Given the description of an element on the screen output the (x, y) to click on. 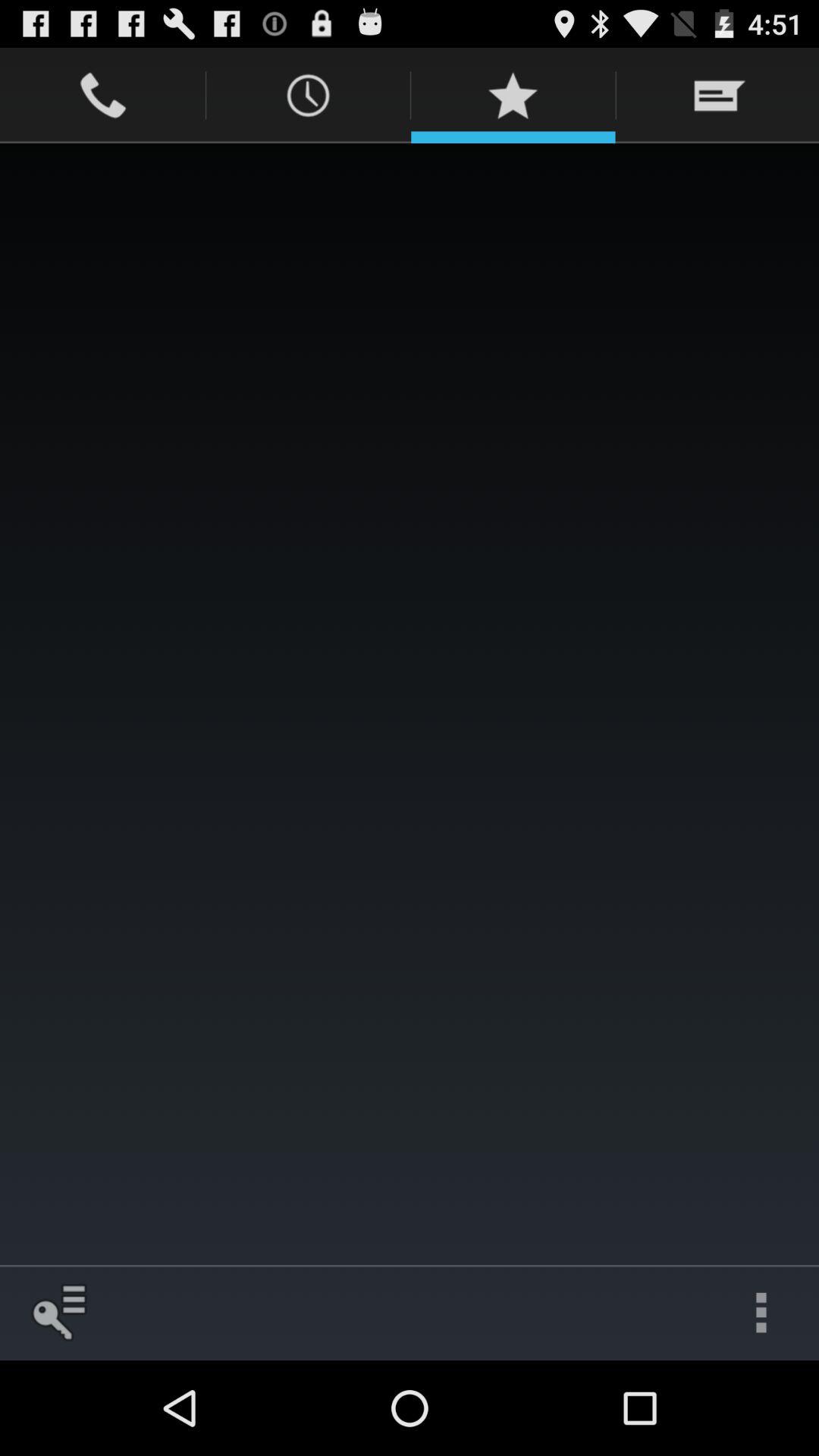
turn off the icon at the bottom right corner (760, 1312)
